Given the description of an element on the screen output the (x, y) to click on. 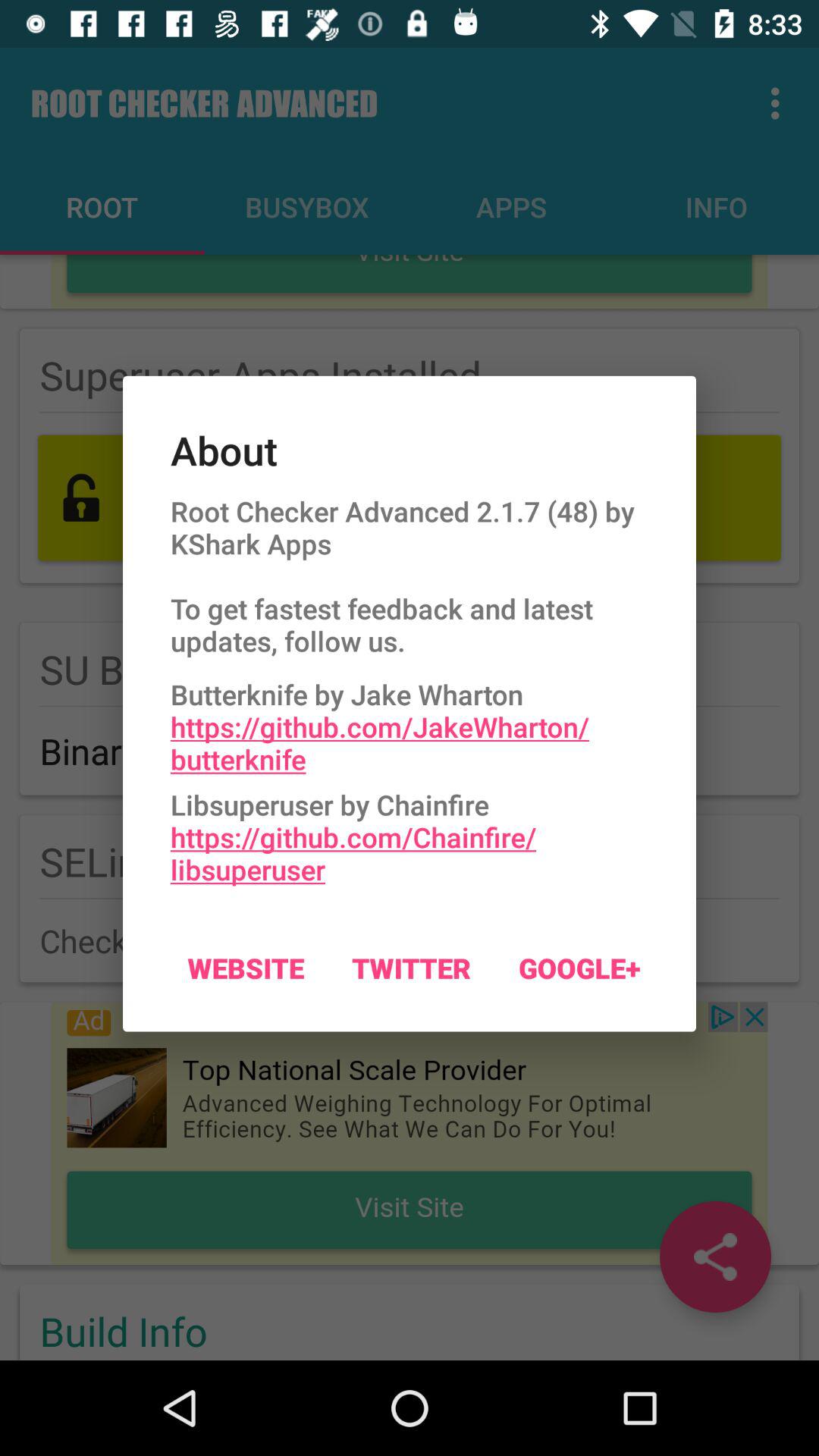
select the twitter icon (411, 967)
